Given the description of an element on the screen output the (x, y) to click on. 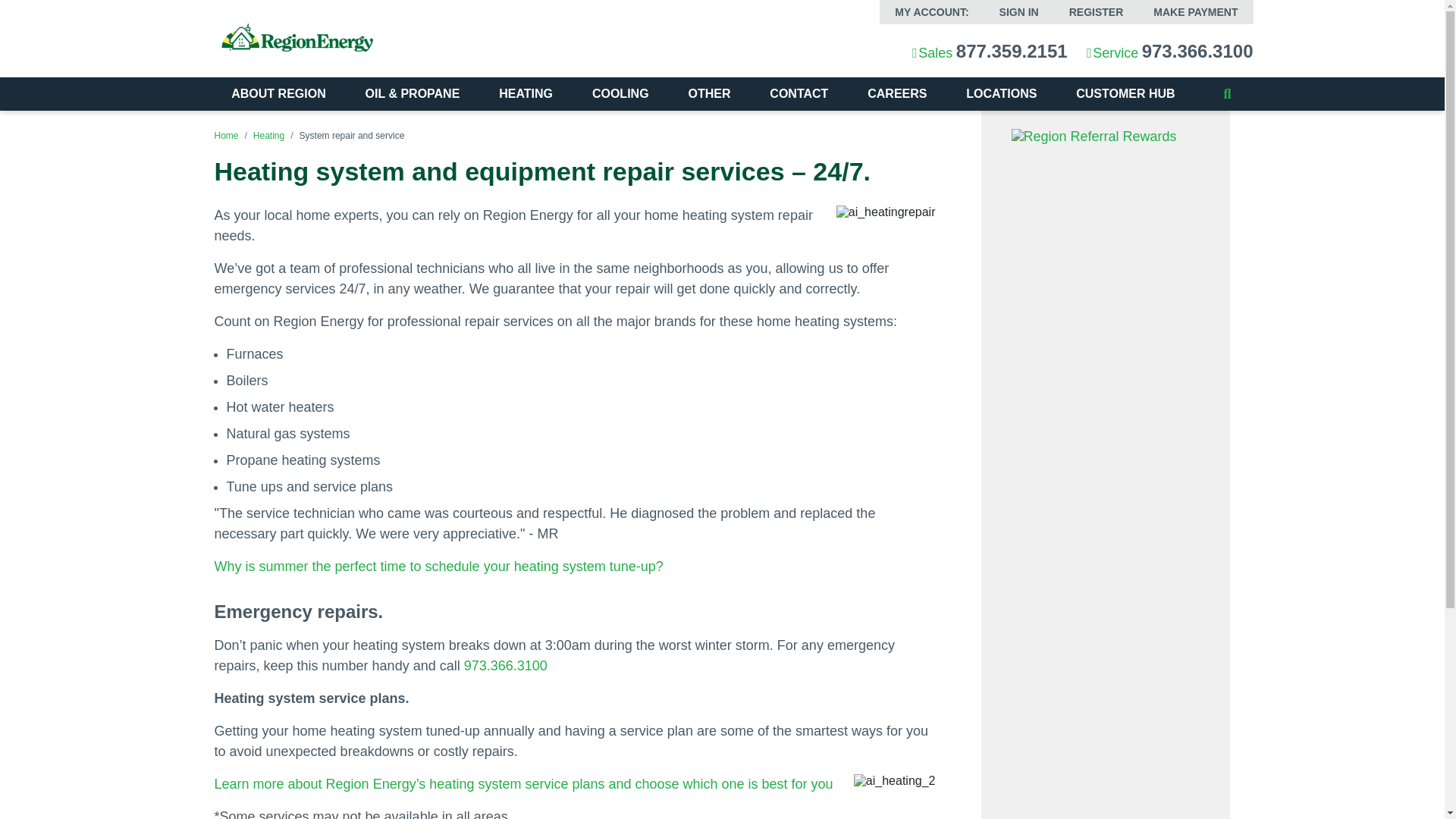
SIGN IN (1019, 12)
973.366.3100 (1197, 51)
MAKE PAYMENT (1195, 12)
ABOUT REGION (277, 93)
REGISTER (1096, 12)
877.359.2151 (1011, 51)
